Given the description of an element on the screen output the (x, y) to click on. 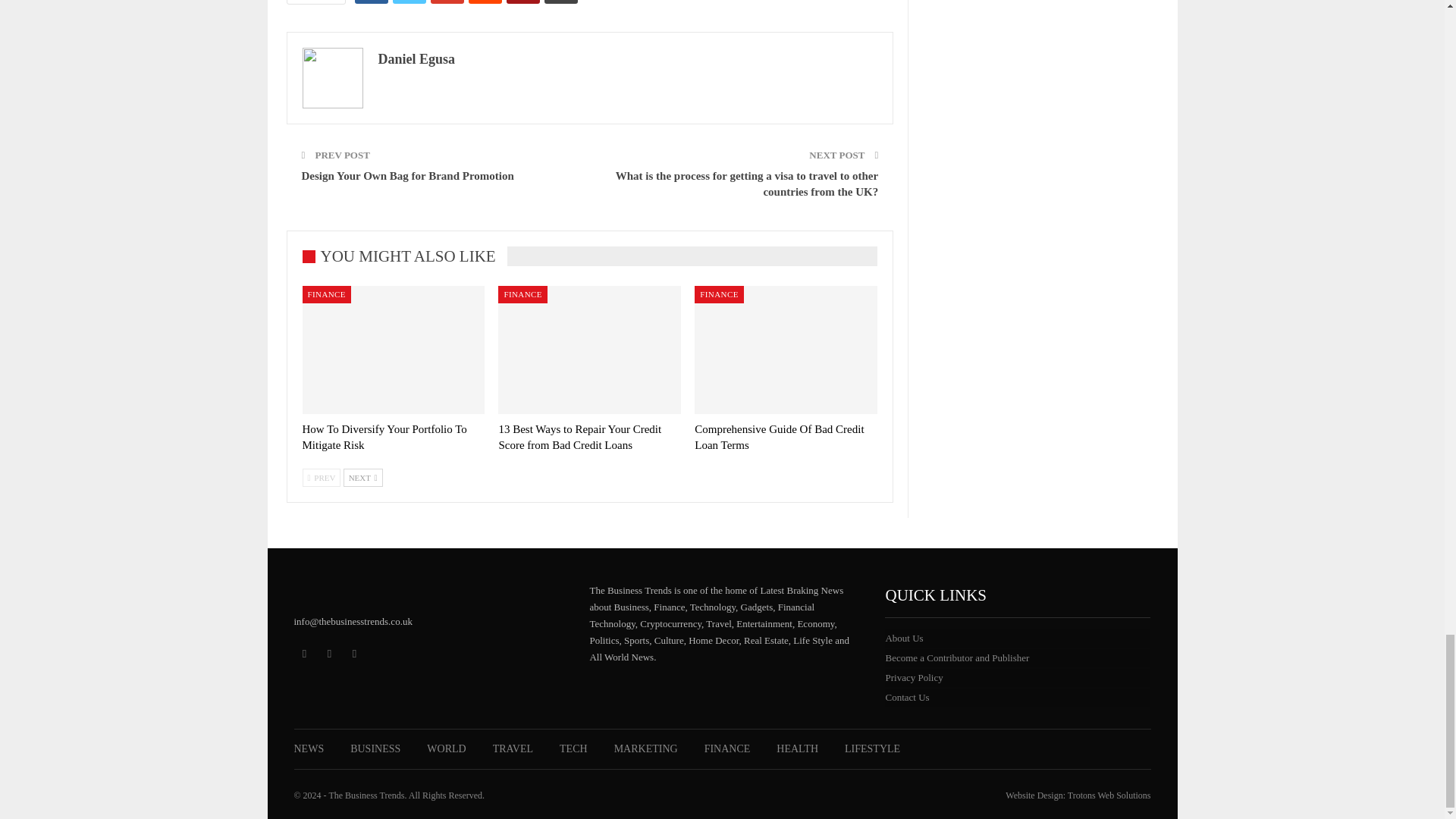
How To Diversify Your Portfolio To Mitigate Risk (383, 437)
How To Diversify Your Portfolio To Mitigate Risk (392, 349)
Comprehensive Guide Of Bad Credit Loan Terms (778, 437)
Next (362, 477)
Previous (320, 477)
Comprehensive Guide Of Bad Credit Loan Terms (785, 349)
